Given the description of an element on the screen output the (x, y) to click on. 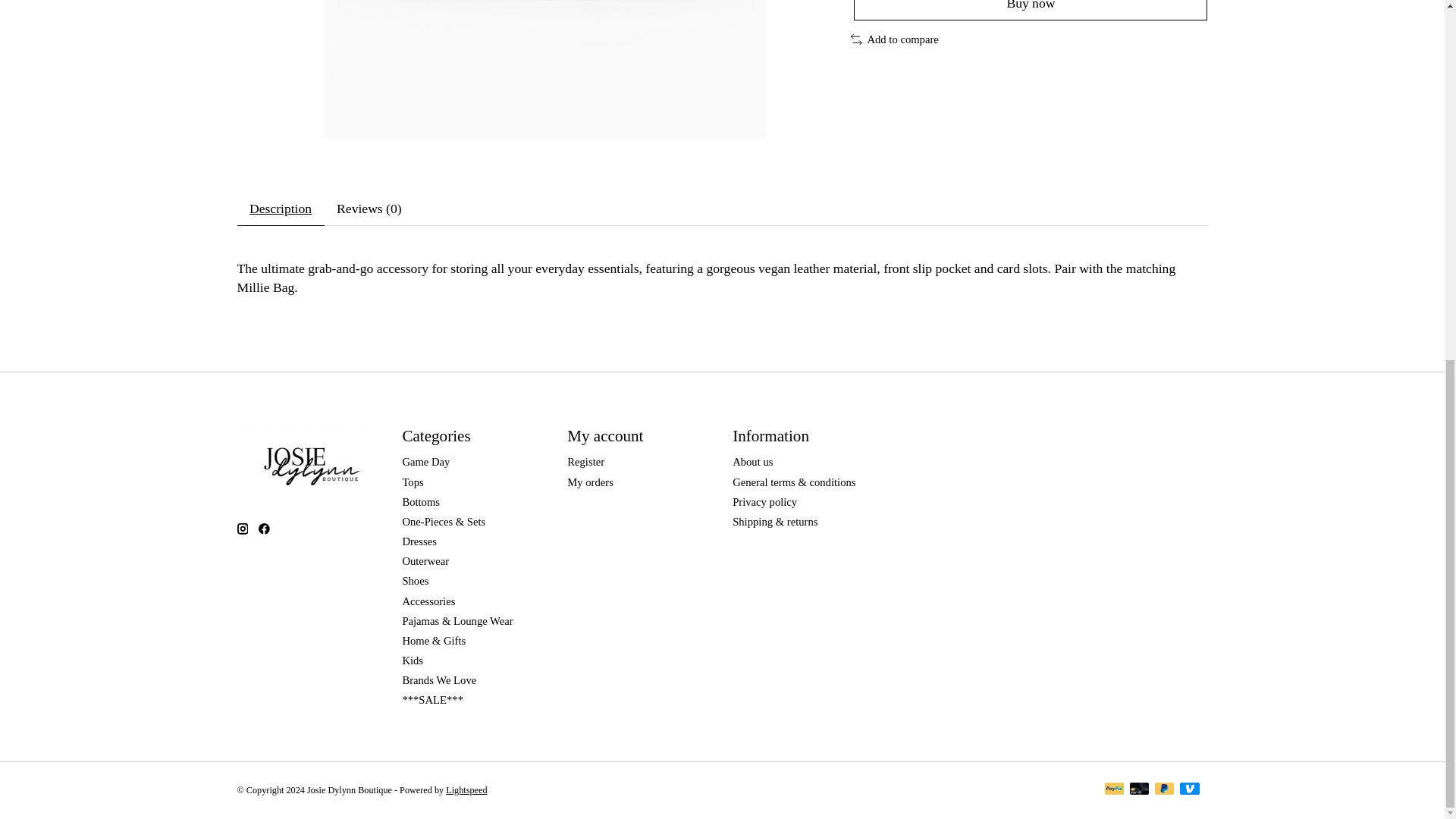
Register (585, 461)
Debit or Credit Card (1139, 789)
My orders (589, 481)
About us (752, 461)
PayPal (1114, 789)
Lightspeed (465, 789)
PayPal Pay Later (1164, 789)
Venmo (1189, 789)
Privacy policy (764, 501)
